Given the description of an element on the screen output the (x, y) to click on. 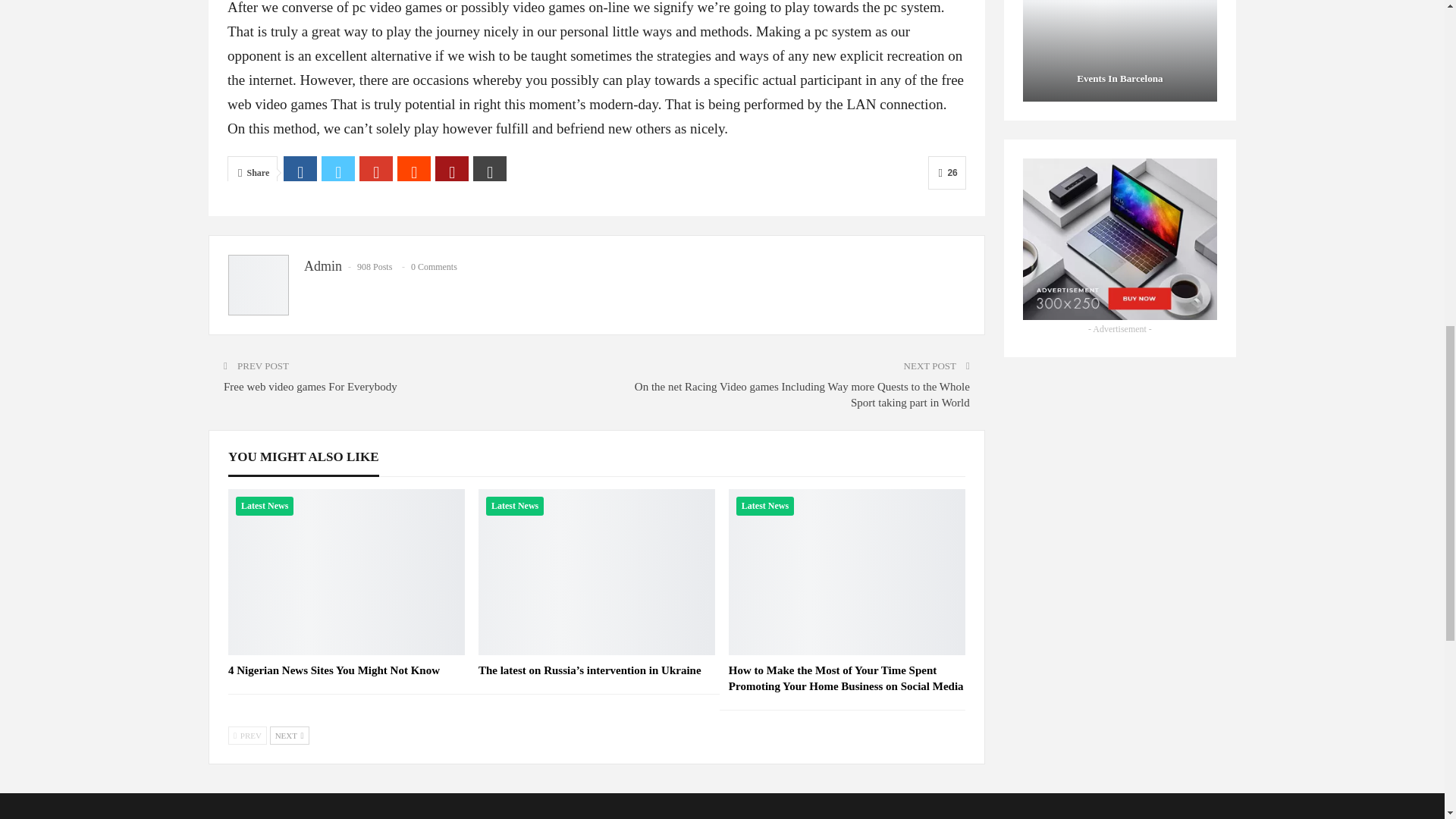
Previous (247, 735)
4 Nigerian News Sites You Might Not Know (333, 670)
4 Nigerian News Sites You Might Not Know (346, 571)
Events in Barcelona (1120, 50)
Next (288, 735)
